Given the description of an element on the screen output the (x, y) to click on. 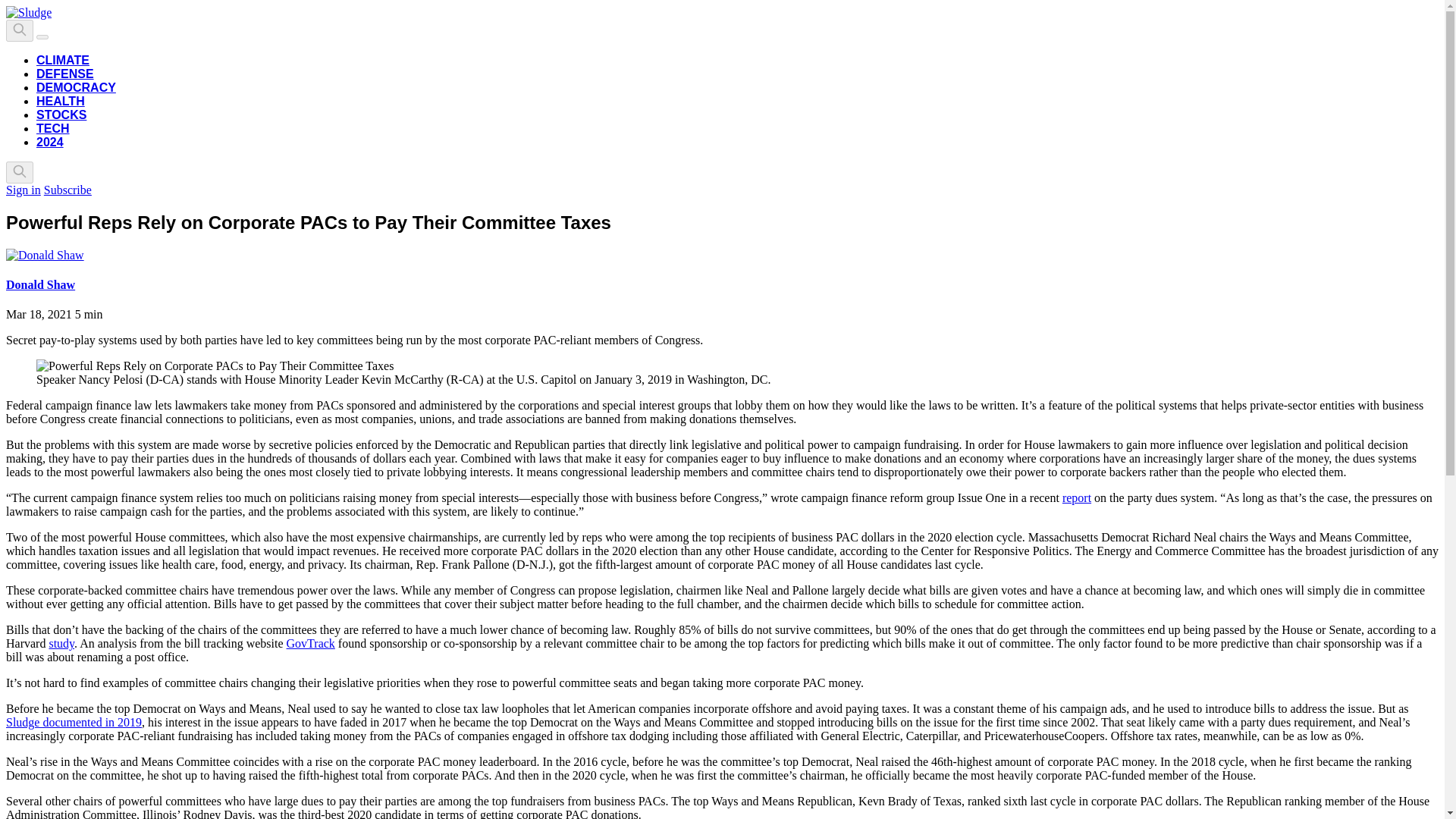
GovTrack (310, 643)
study (61, 643)
DEFENSE (65, 73)
HEALTH (60, 101)
CLIMATE (62, 60)
STOCKS (60, 114)
DEMOCRACY (76, 87)
Sign in (22, 189)
TECH (52, 128)
2024 (50, 141)
Sludge documented in 2019 (73, 721)
report (1076, 497)
Donald Shaw (40, 284)
Subscribe (67, 189)
